Given the description of an element on the screen output the (x, y) to click on. 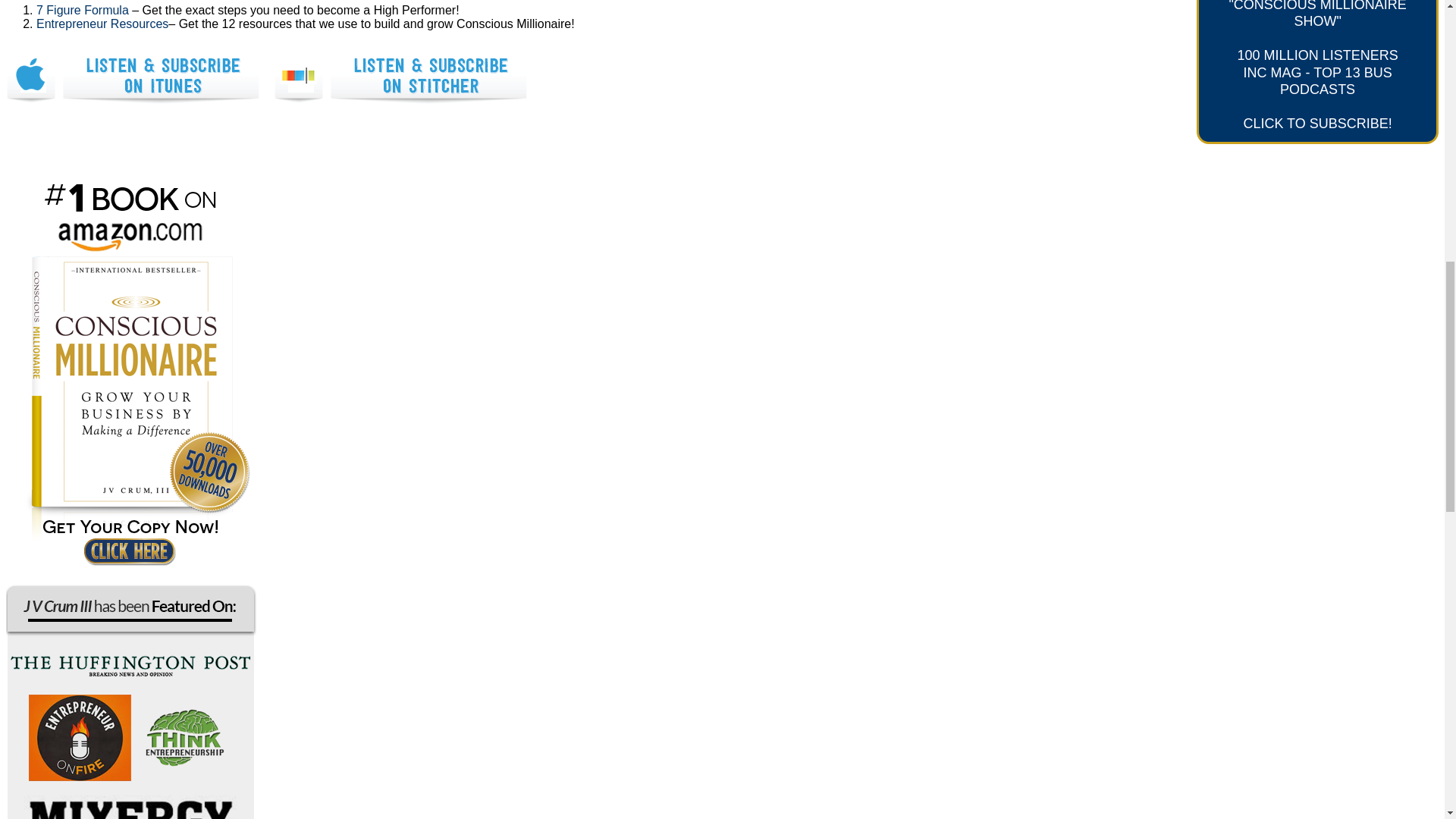
7 Figure Formula (82, 10)
Entrepreneur Resources (102, 23)
